Given the description of an element on the screen output the (x, y) to click on. 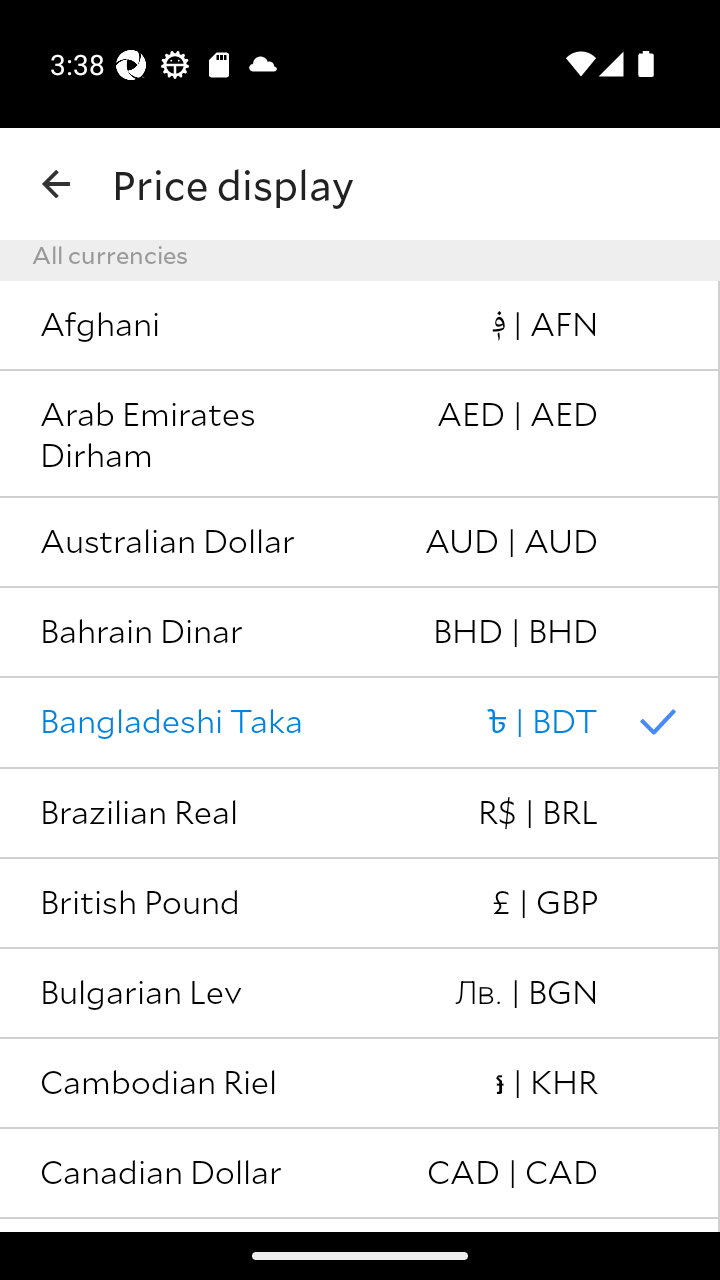
navigation_button (56, 184)
Afghani ‎؋ | AFN (360, 326)
Arab Emirates Dirham AED | AED (360, 434)
Australian Dollar AUD | AUD (360, 542)
Bahrain Dinar BHD | BHD (360, 632)
Bangladeshi Taka ৳ | BDT (360, 723)
Brazilian Real R$ | BRL (360, 813)
British Pound £ | GBP (360, 903)
Bulgarian Lev Лв. | BGN (360, 993)
Cambodian Riel ៛ | KHR (360, 1083)
Canadian Dollar CAD | CAD (360, 1173)
